Given the description of an element on the screen output the (x, y) to click on. 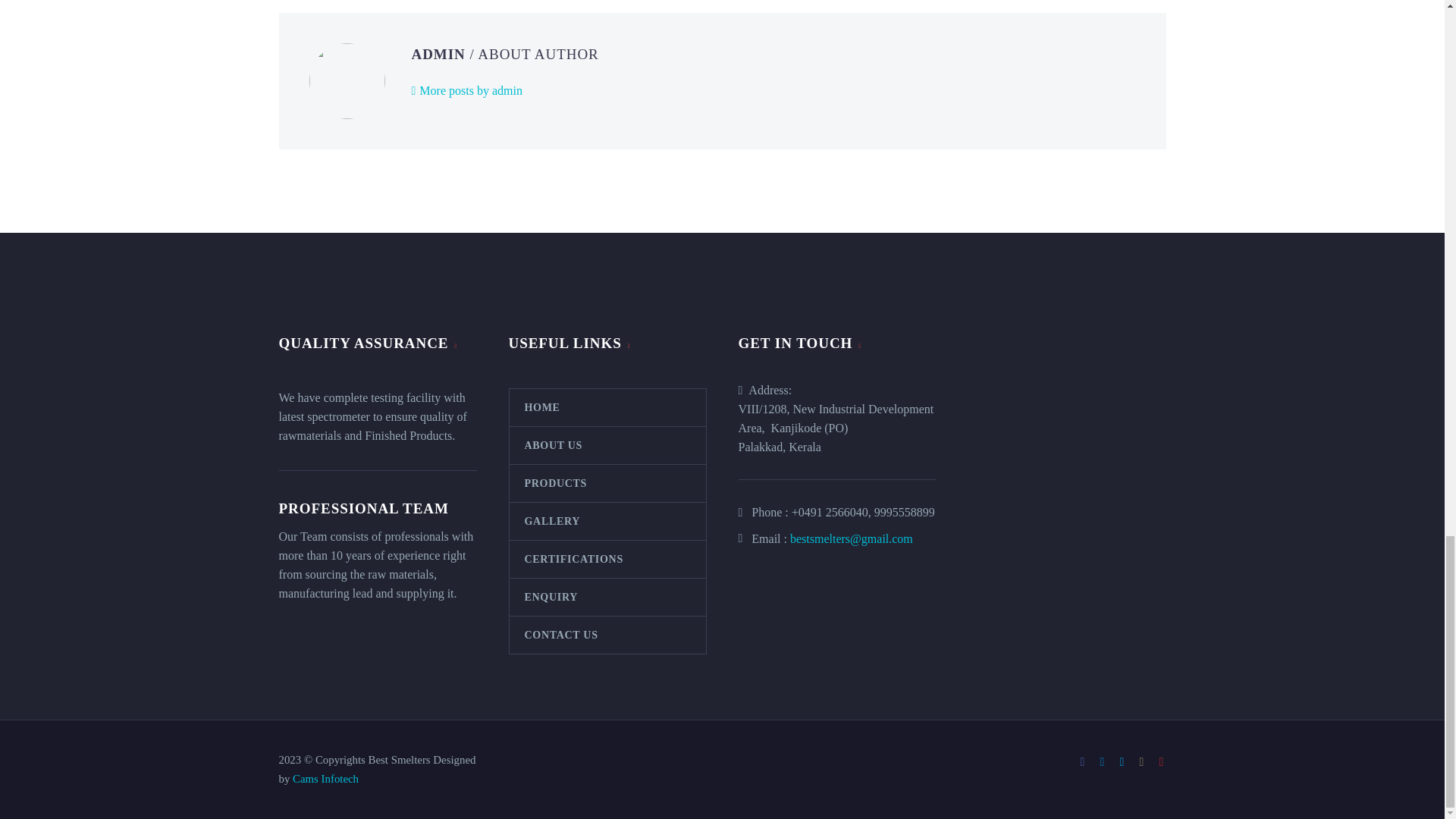
More posts by admin (465, 89)
Facebook (1083, 761)
ABOUT US (607, 444)
LinkedIn (1102, 761)
PRODUCTS (607, 482)
HOME (607, 406)
CERTIFICATIONS (607, 558)
GALLERY (607, 520)
CONTACT US (607, 633)
ENQUIRY (607, 596)
